Given the description of an element on the screen output the (x, y) to click on. 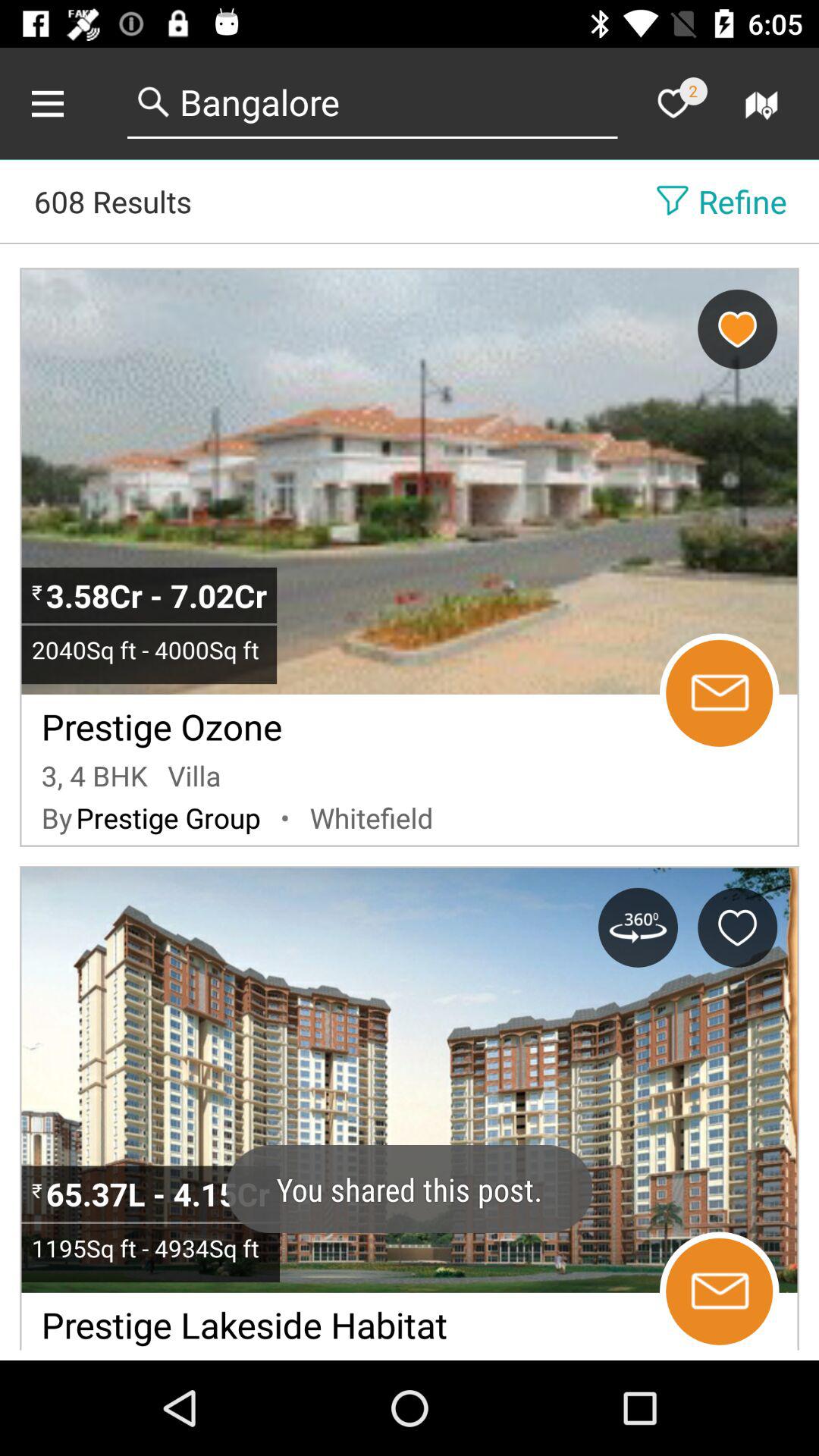
click the like symbol (673, 103)
